Given the description of an element on the screen output the (x, y) to click on. 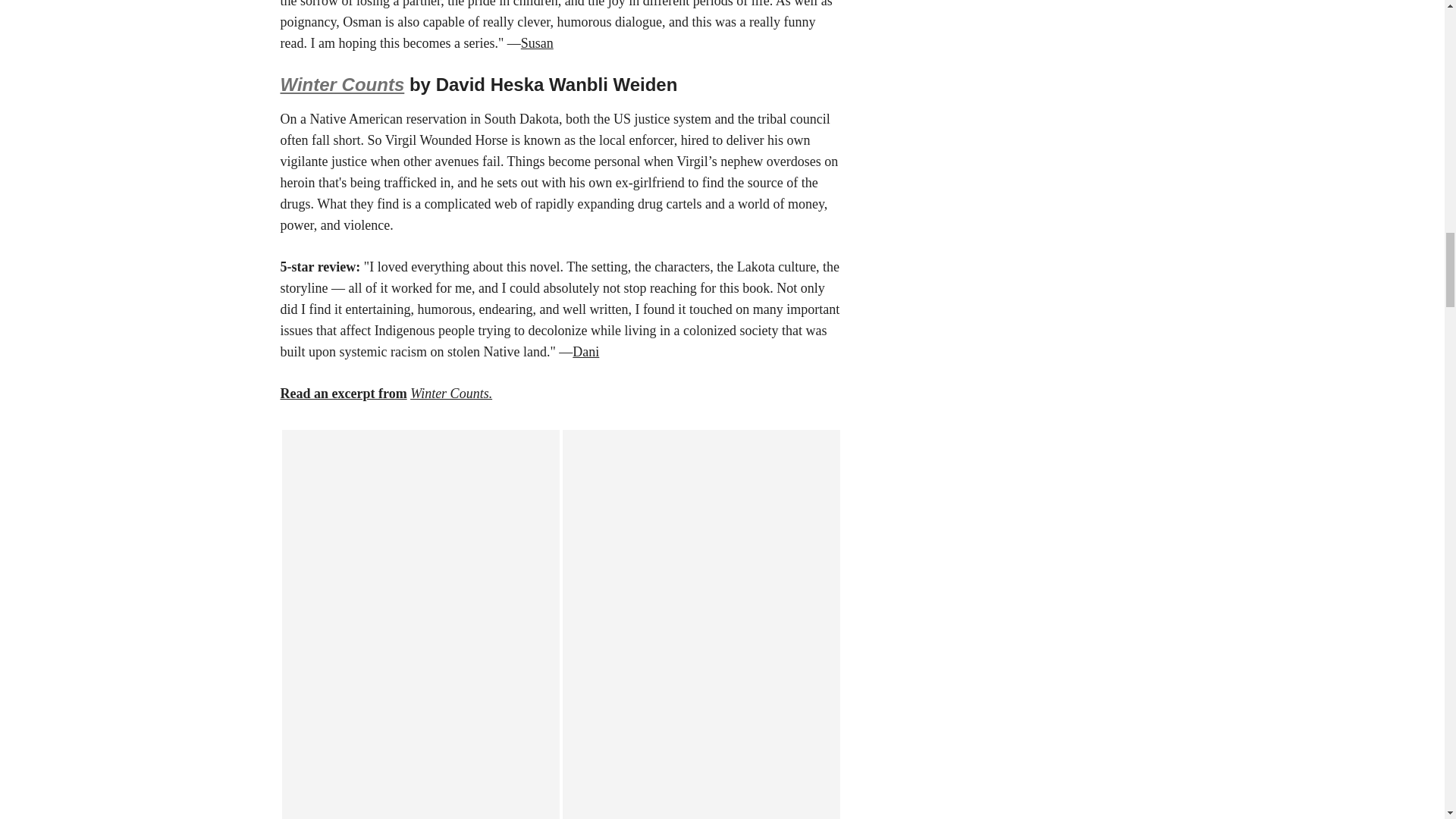
Winter Counts (342, 84)
Dani (585, 351)
Winter Counts. (451, 393)
Susan (537, 43)
Read an excerpt from (344, 393)
